Given the description of an element on the screen output the (x, y) to click on. 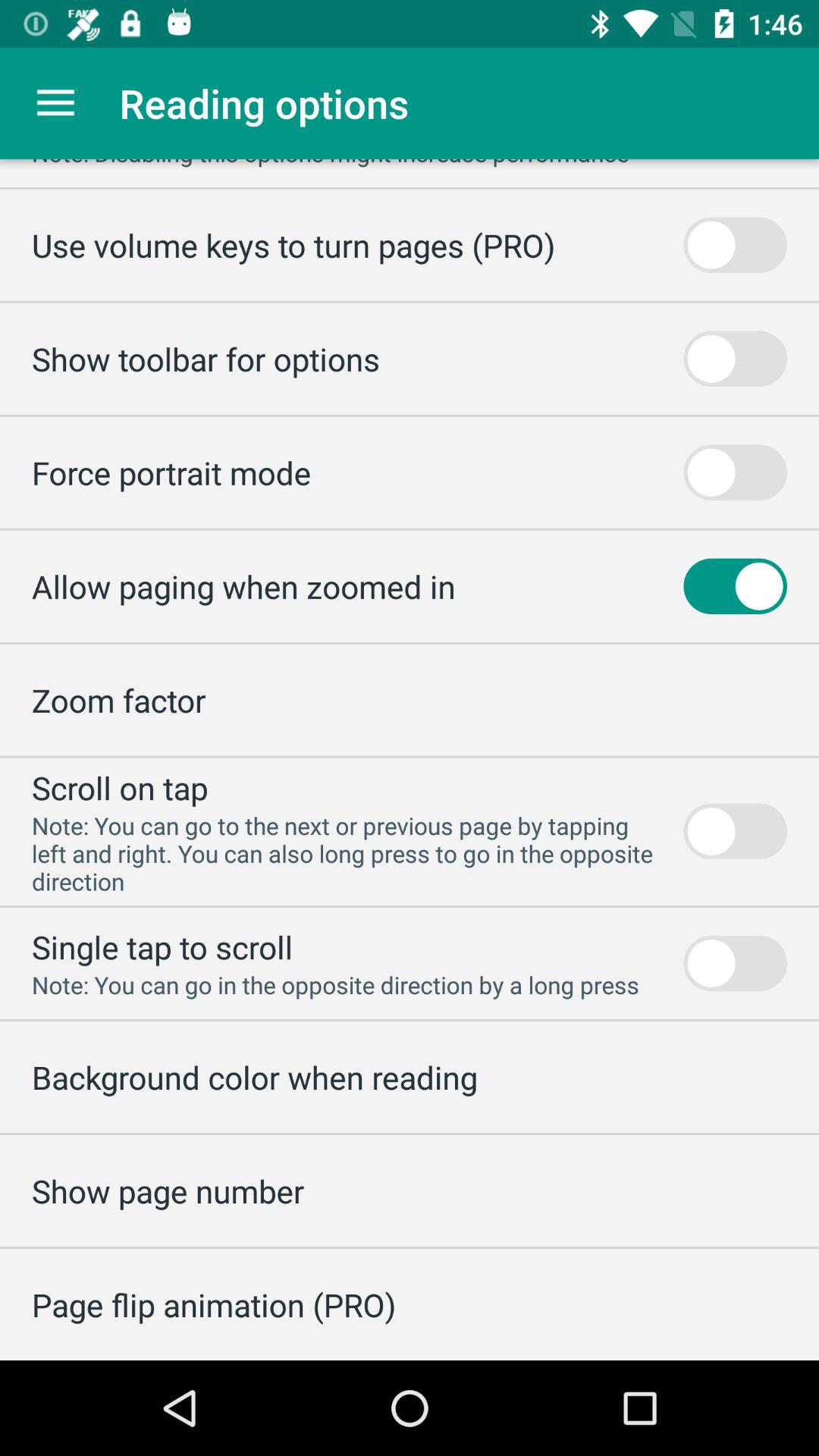
press the item below the note disabling this item (293, 244)
